Given the description of an element on the screen output the (x, y) to click on. 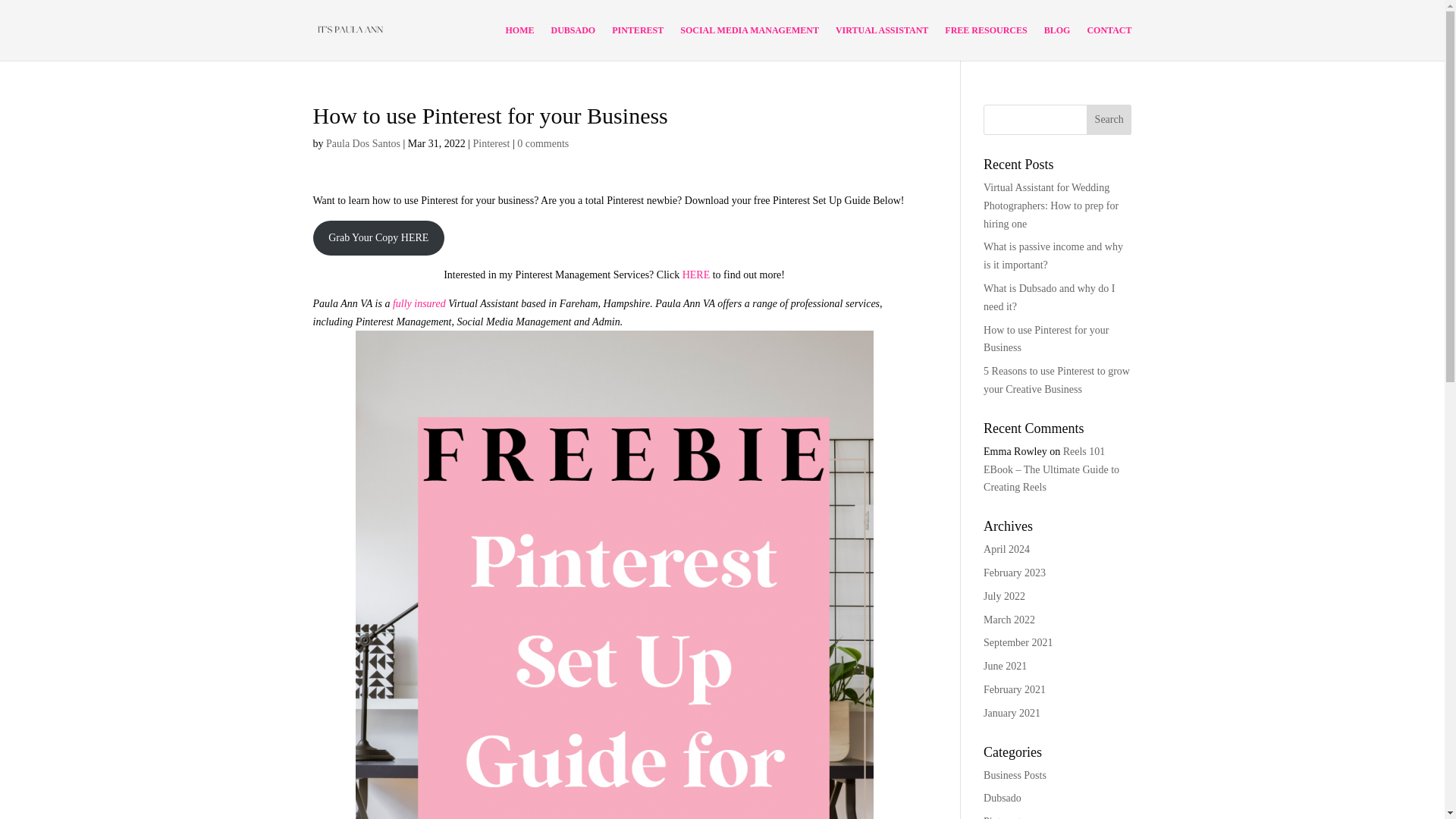
Grab Your Copy HERE (378, 237)
DUBSADO (573, 42)
0 comments (542, 143)
SOCIAL MEDIA MANAGEMENT (748, 42)
Pinterest (490, 143)
VIRTUAL ASSISTANT (881, 42)
CONTACT (1108, 42)
Search (1109, 119)
FREE RESOURCES (985, 42)
Search (1109, 119)
